Given the description of an element on the screen output the (x, y) to click on. 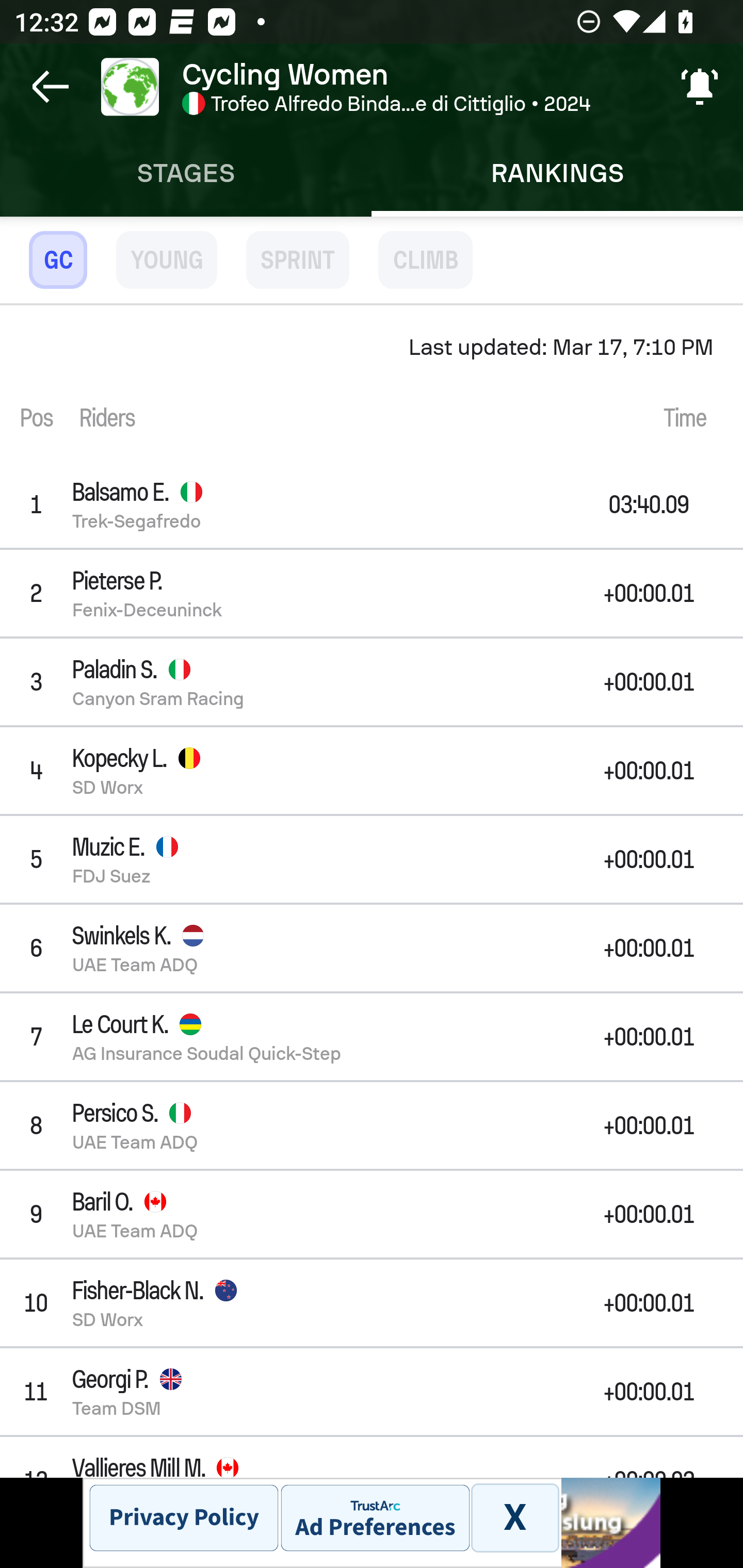
Navigate up (50, 86)
Stages STAGES (185, 173)
GC (57, 259)
Last updated: Mar 17, 7:10 PM Pos Riders Time (371, 382)
1 Balsamo E. Trek-Segafredo 03:40.09 (371, 503)
2 Pieterse P. Fenix-Deceuninck +00:00.01 (371, 593)
3 Paladin S. Canyon Sram Racing +00:00.01 (371, 681)
4 Kopecky L. SD Worx +00:00.01 (371, 770)
5 Muzic E. FDJ Suez +00:00.01 (371, 859)
6 Swinkels K. UAE Team ADQ +00:00.01 (371, 947)
8 Persico S. UAE Team ADQ +00:00.01 (371, 1124)
9 Baril O. UAE Team ADQ +00:00.01 (371, 1214)
10 Fisher-Black N. SD Worx +00:00.01 (371, 1302)
11 Georgi P. Team DSM +00:00.01 (371, 1391)
get?name=ta-btn-privacy (183, 1517)
get?name=btn-ad-preferences-2 (374, 1517)
X (513, 1517)
